Given the description of an element on the screen output the (x, y) to click on. 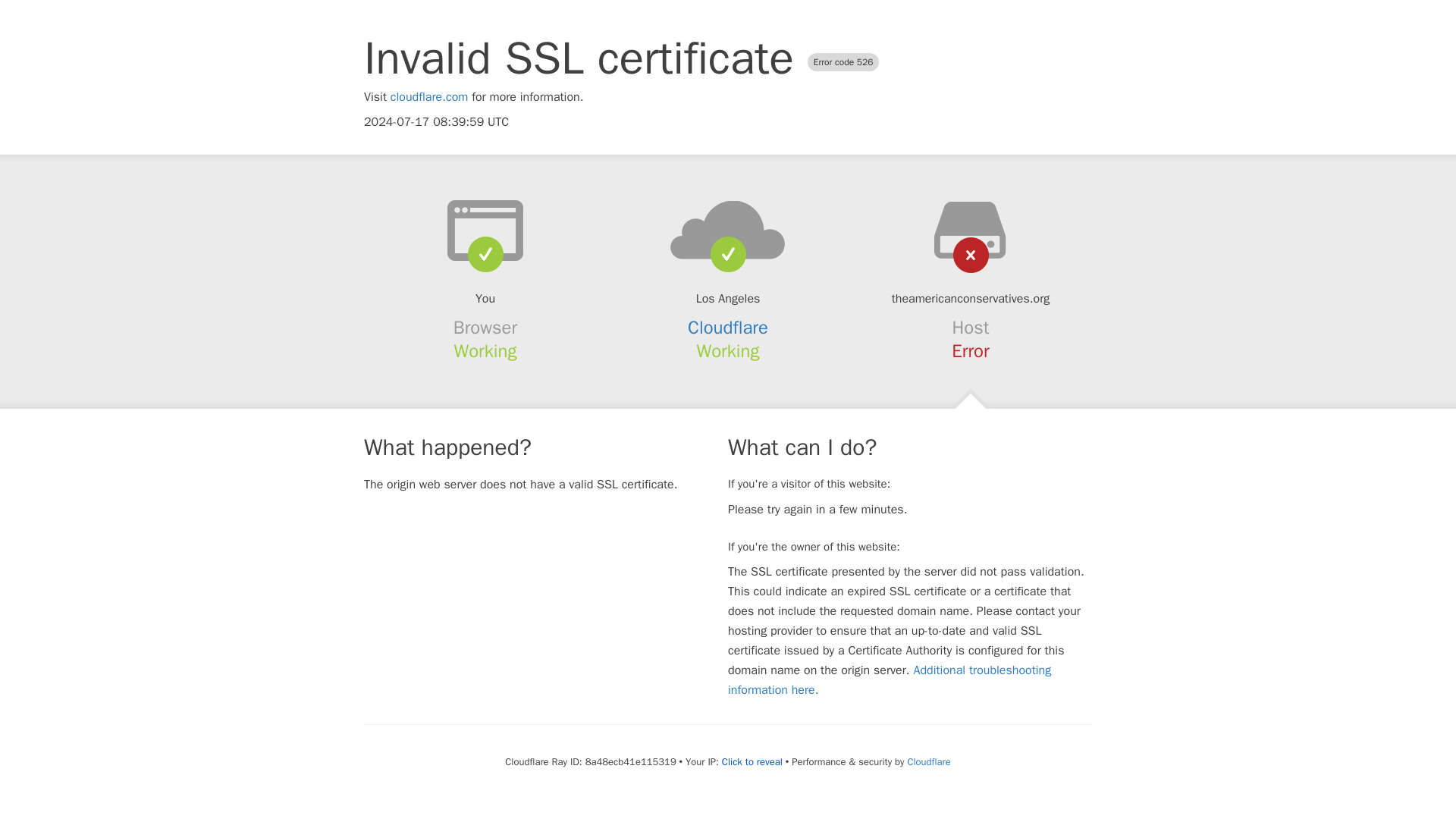
Cloudflare (727, 327)
Cloudflare (928, 761)
cloudflare.com (429, 96)
Click to reveal (752, 762)
Additional troubleshooting information here. (889, 679)
